Given the description of an element on the screen output the (x, y) to click on. 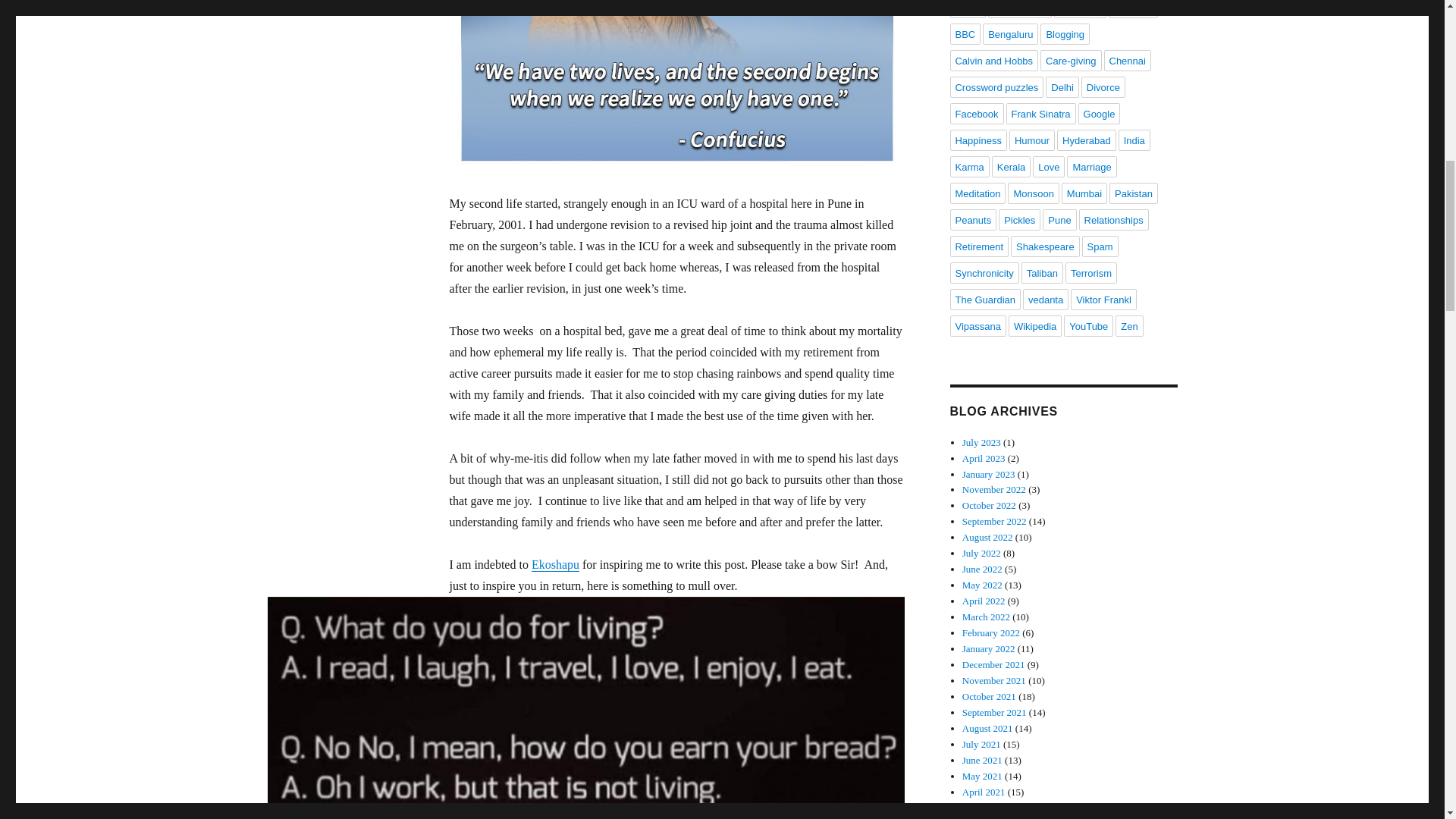
Crossword puzzles (996, 86)
Care-giving (1070, 60)
Delhi (1061, 86)
Bengaluru (1010, 34)
Ekoshapu (555, 563)
Ajit Ninan (1080, 9)
BBC (964, 34)
Ahmedabad (1019, 9)
Chennai (1127, 60)
Australia (1132, 9)
Divorce (1103, 86)
Aging (967, 9)
Blogging (1065, 34)
Calvin and Hobbs (993, 60)
